Given the description of an element on the screen output the (x, y) to click on. 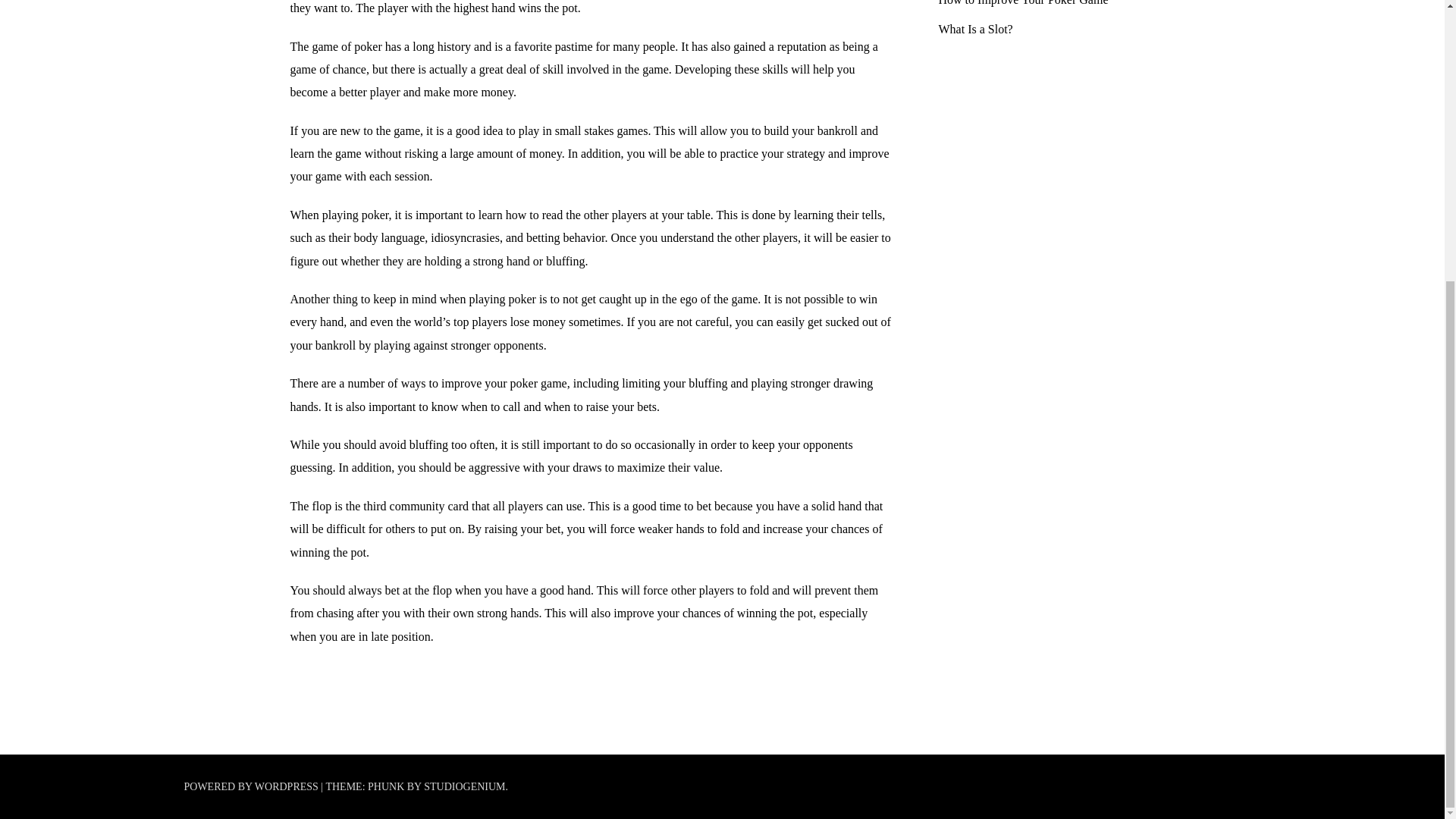
What Is a Slot? (976, 29)
STUDIOGENIUM (464, 786)
How to Improve Your Poker Game (1023, 2)
POWERED BY WORDPRESS (251, 786)
